Given the description of an element on the screen output the (x, y) to click on. 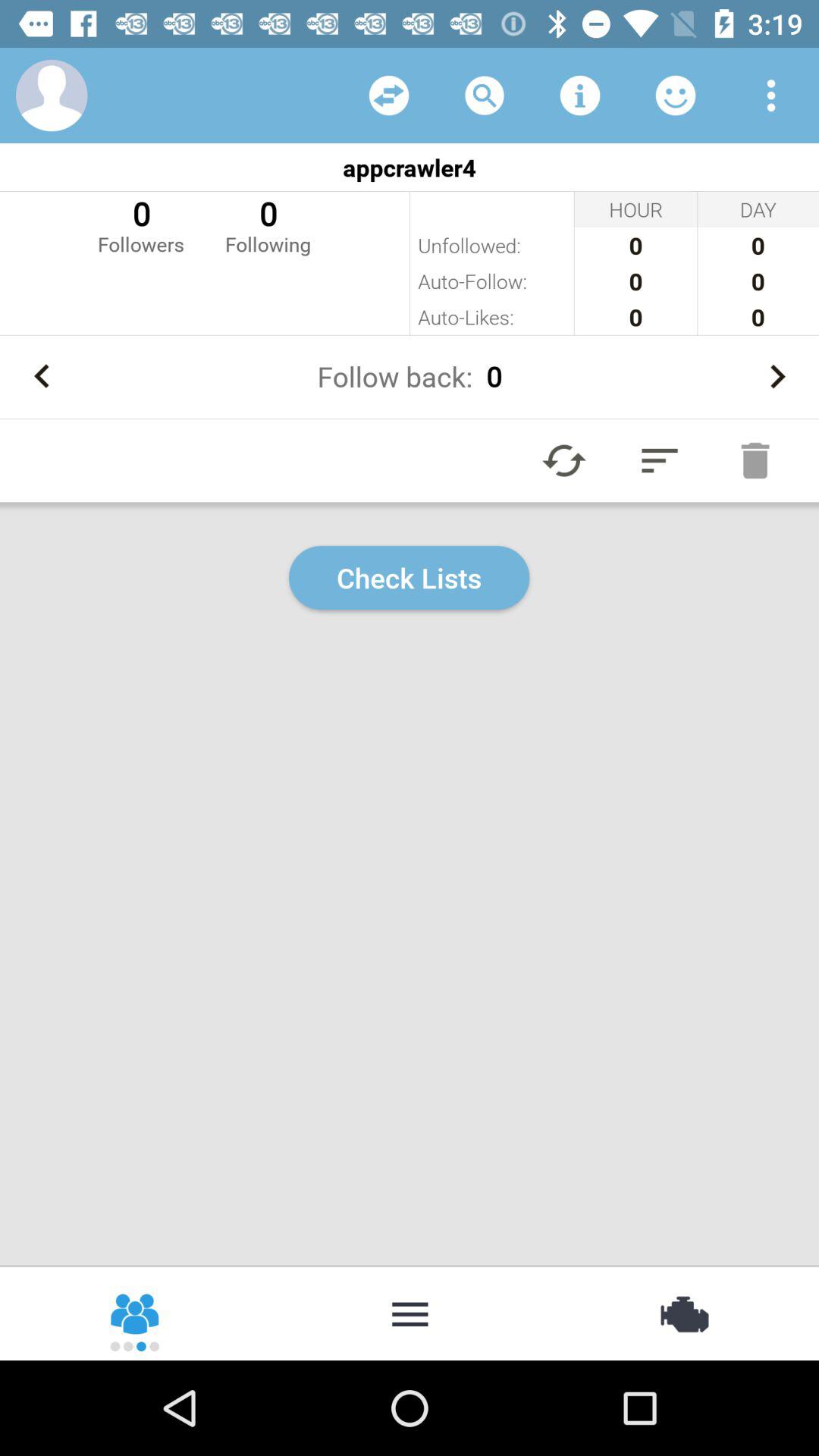
select item next to the 0
followers item (268, 224)
